Given the description of an element on the screen output the (x, y) to click on. 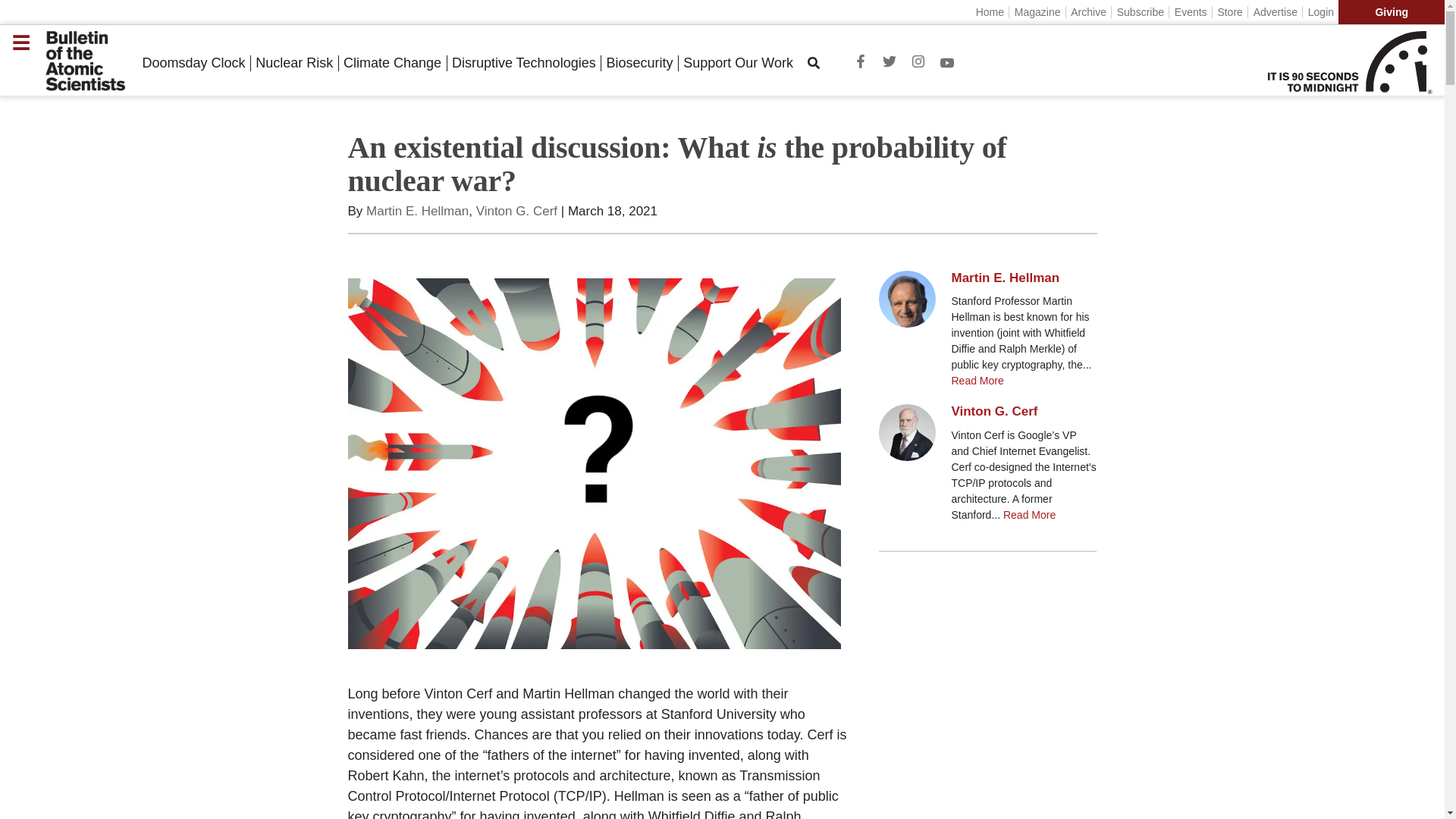
Home (990, 11)
Doomsday Clock (193, 63)
Support Our Work (737, 63)
Climate Change (391, 63)
Biosecurity (638, 63)
A clock reading 90 seconds to midnight (1318, 63)
Biosecurity (638, 63)
Magazine (1036, 11)
Store (1229, 11)
A clock reading 90 seconds to midnight (1350, 63)
